Given the description of an element on the screen output the (x, y) to click on. 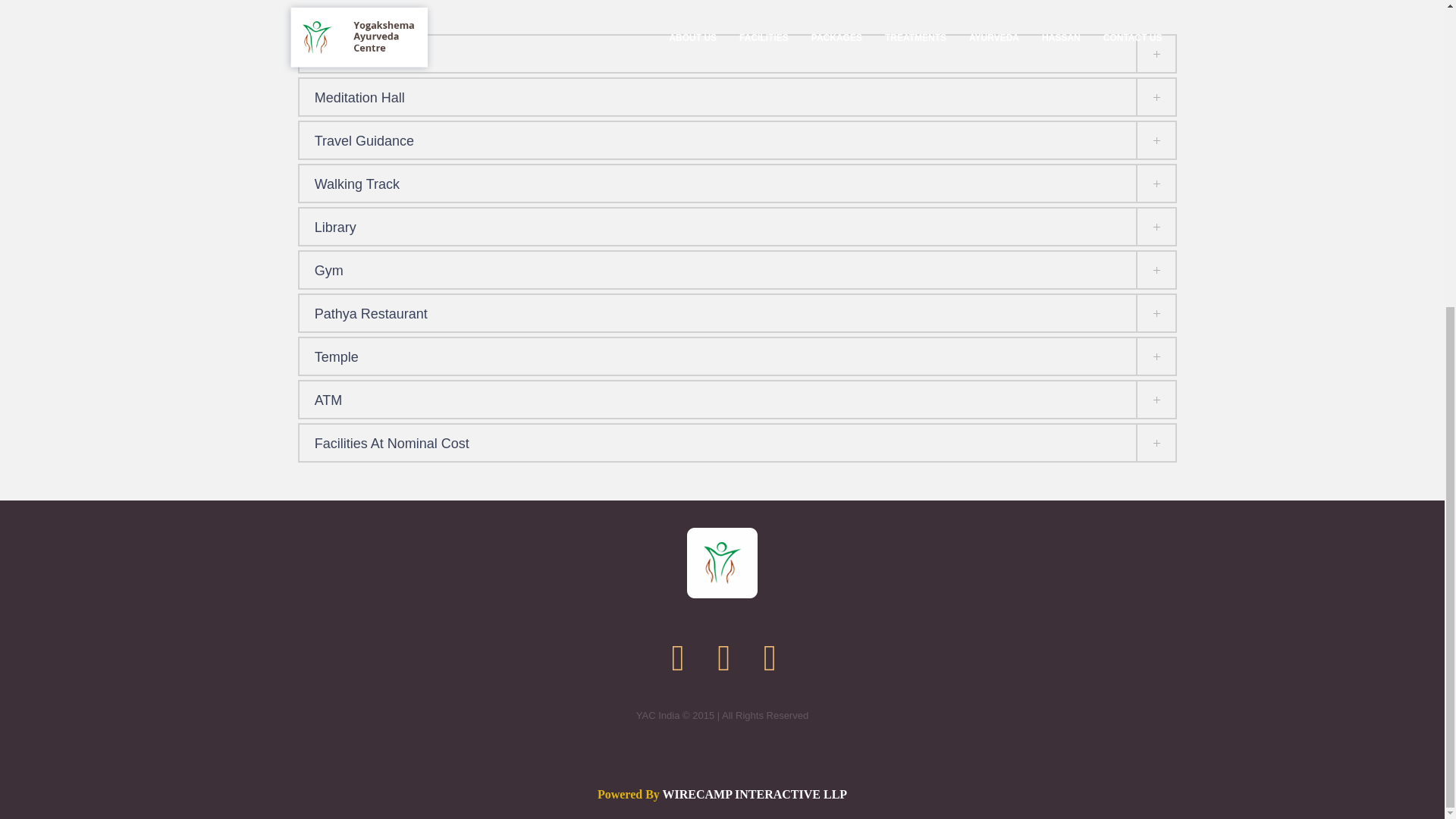
Walking Track (737, 183)
Gym (737, 269)
Library (737, 226)
Accommodation (737, 54)
Pathya Restaurant (737, 312)
ATM (737, 399)
Meditation Hall (737, 96)
Travel Guidance (737, 140)
Temple (737, 356)
Facilities At Nominal Cost (737, 443)
